Given the description of an element on the screen output the (x, y) to click on. 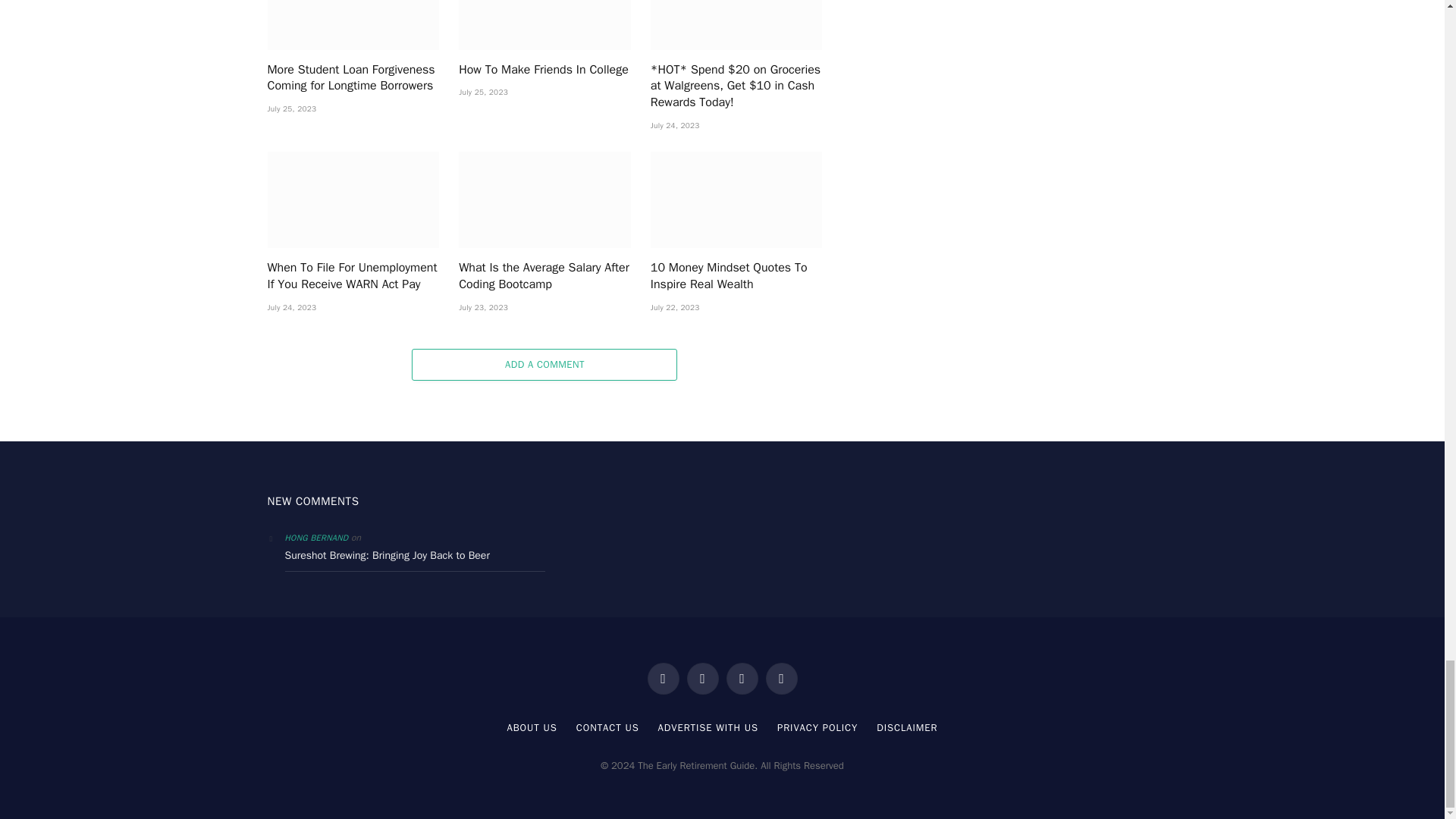
How To Make Friends In College (544, 24)
More Student Loan Forgiveness Coming for Longtime Borrowers (352, 24)
